Given the description of an element on the screen output the (x, y) to click on. 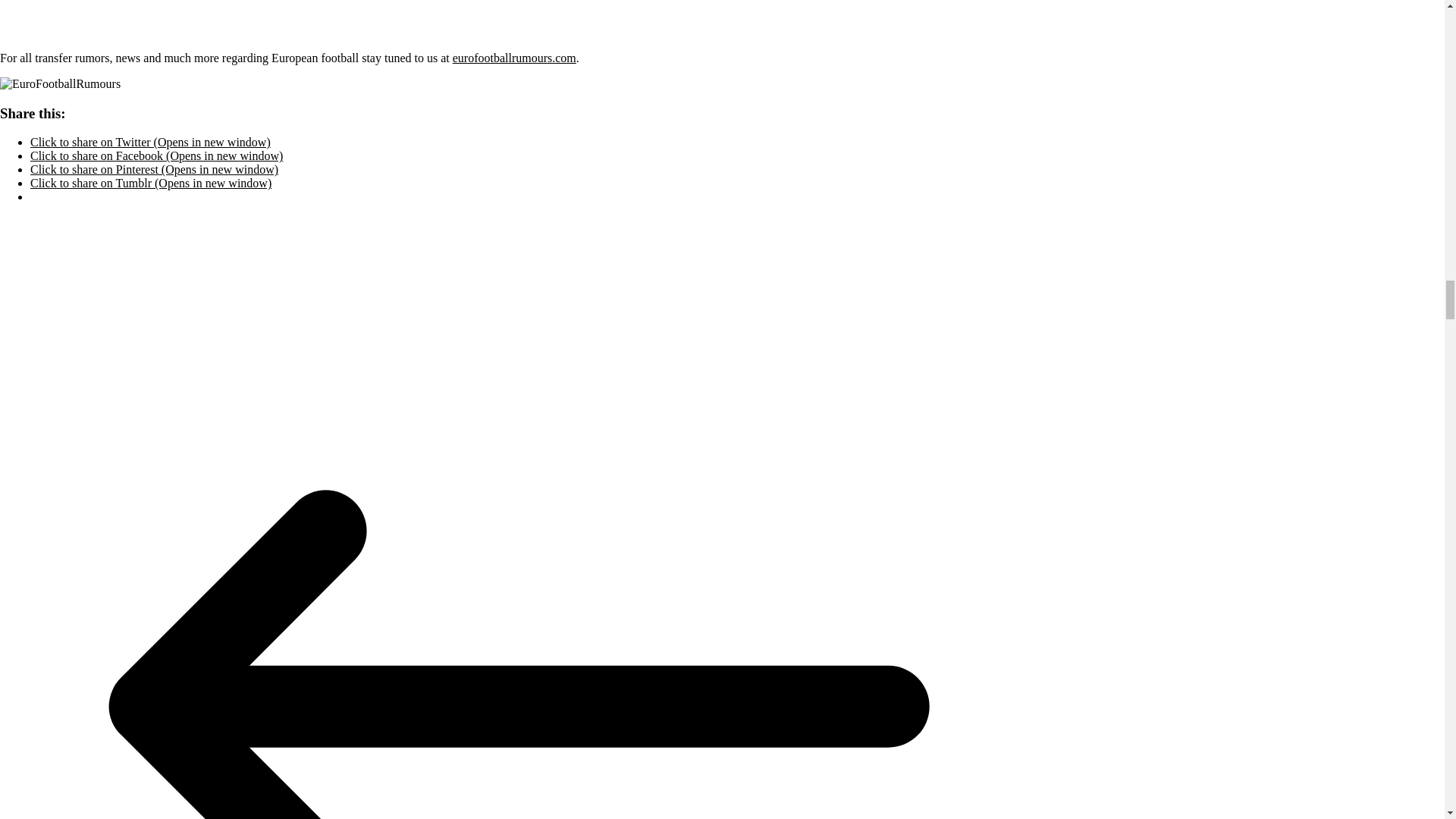
Click to share on Facebook (156, 155)
Click to share on Pinterest (154, 169)
Click to share on Twitter (150, 141)
Click to share on Tumblr (150, 182)
